Given the description of an element on the screen output the (x, y) to click on. 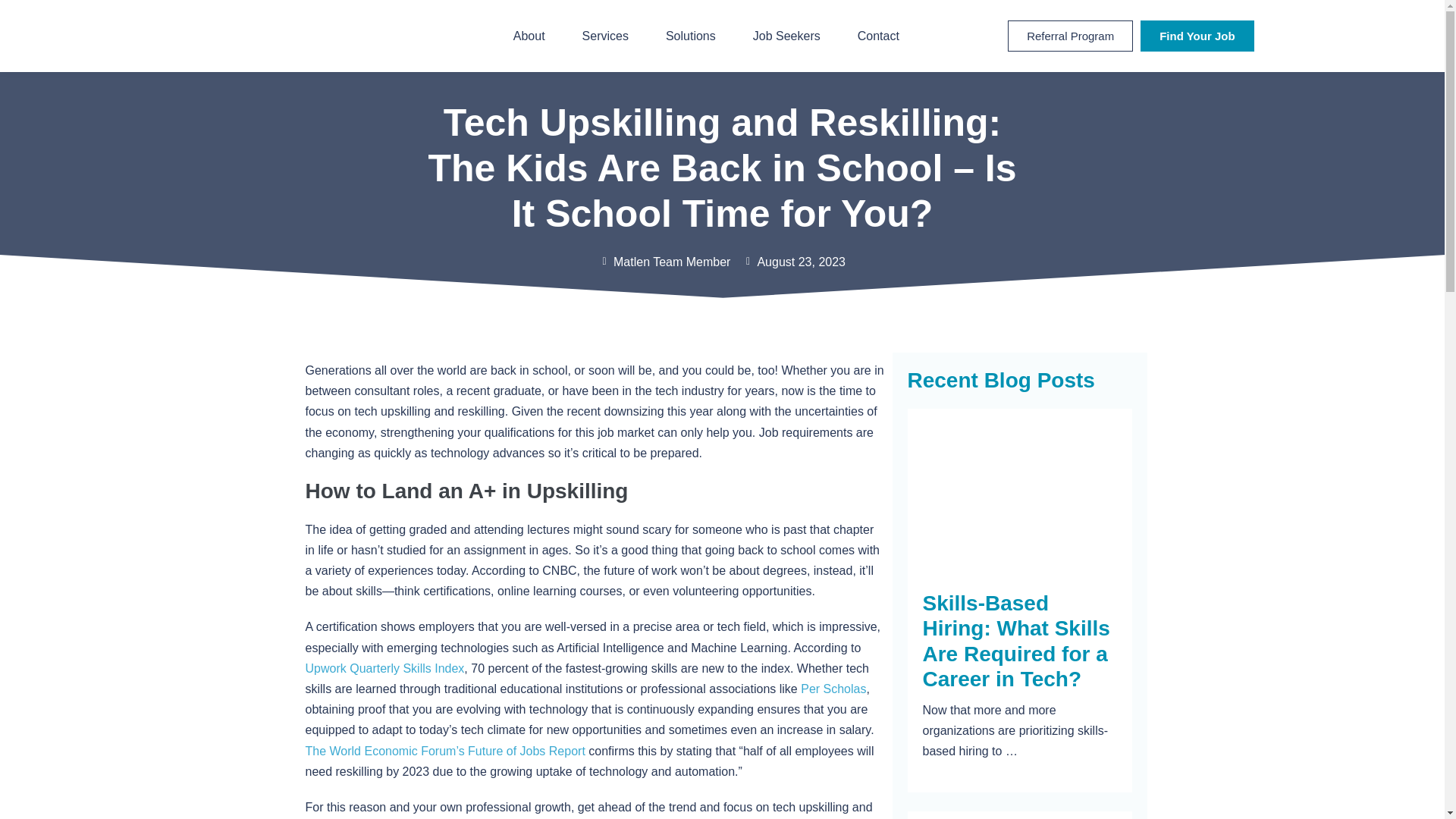
Find Your Job (1196, 35)
Solutions (690, 35)
Services (605, 35)
Job Seekers (786, 35)
About (528, 35)
Contact (878, 35)
Referral Program (1069, 35)
